Given the description of an element on the screen output the (x, y) to click on. 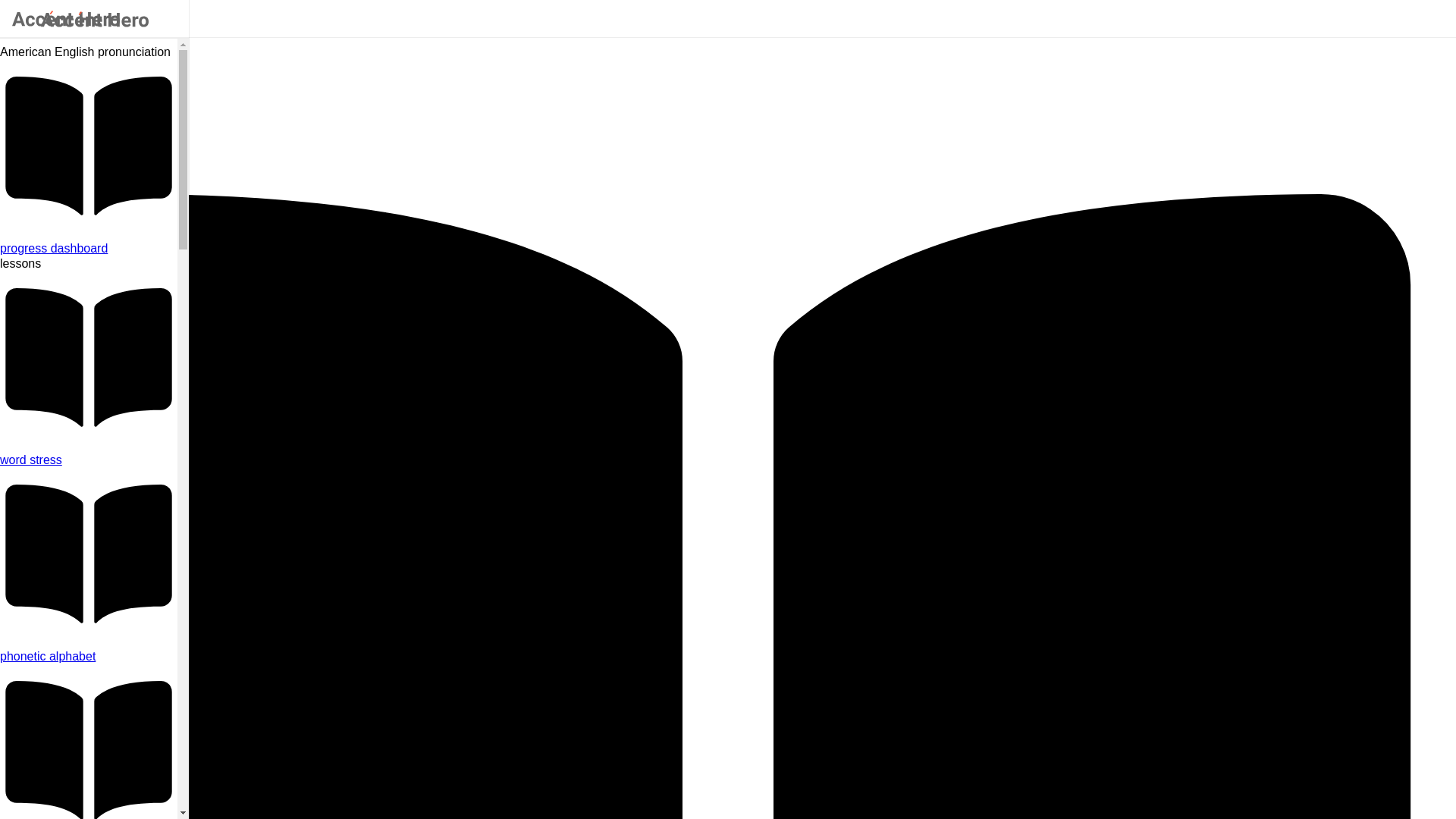
Learn to precisely articulate each sound (88, 656)
Learn how word stress influences your accent (88, 459)
